Given the description of an element on the screen output the (x, y) to click on. 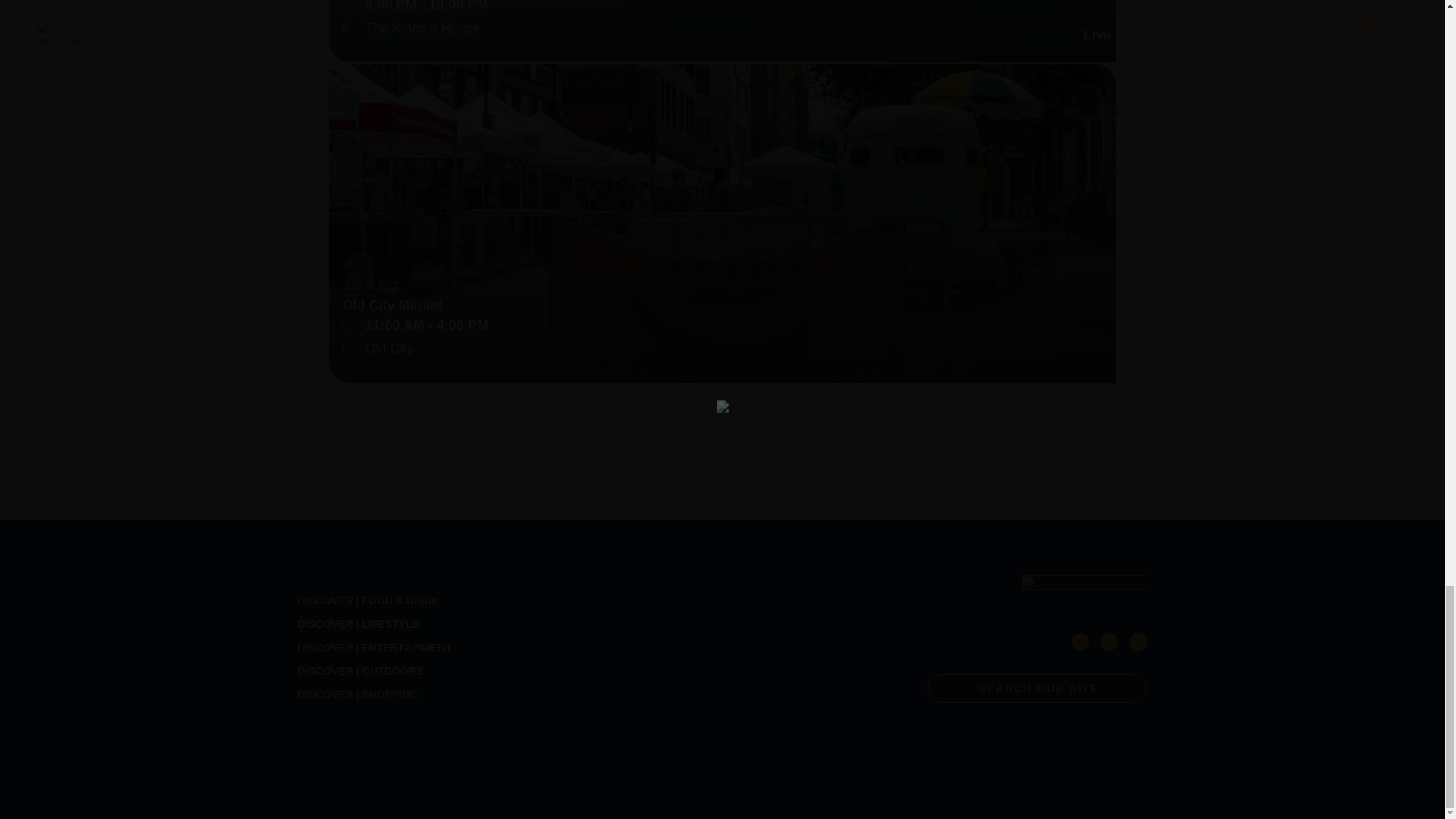
Follow on Instagram (1138, 641)
Asset 2 (1083, 591)
Follow on Pinterest (1109, 641)
Follow on Facebook (1080, 641)
